Given the description of an element on the screen output the (x, y) to click on. 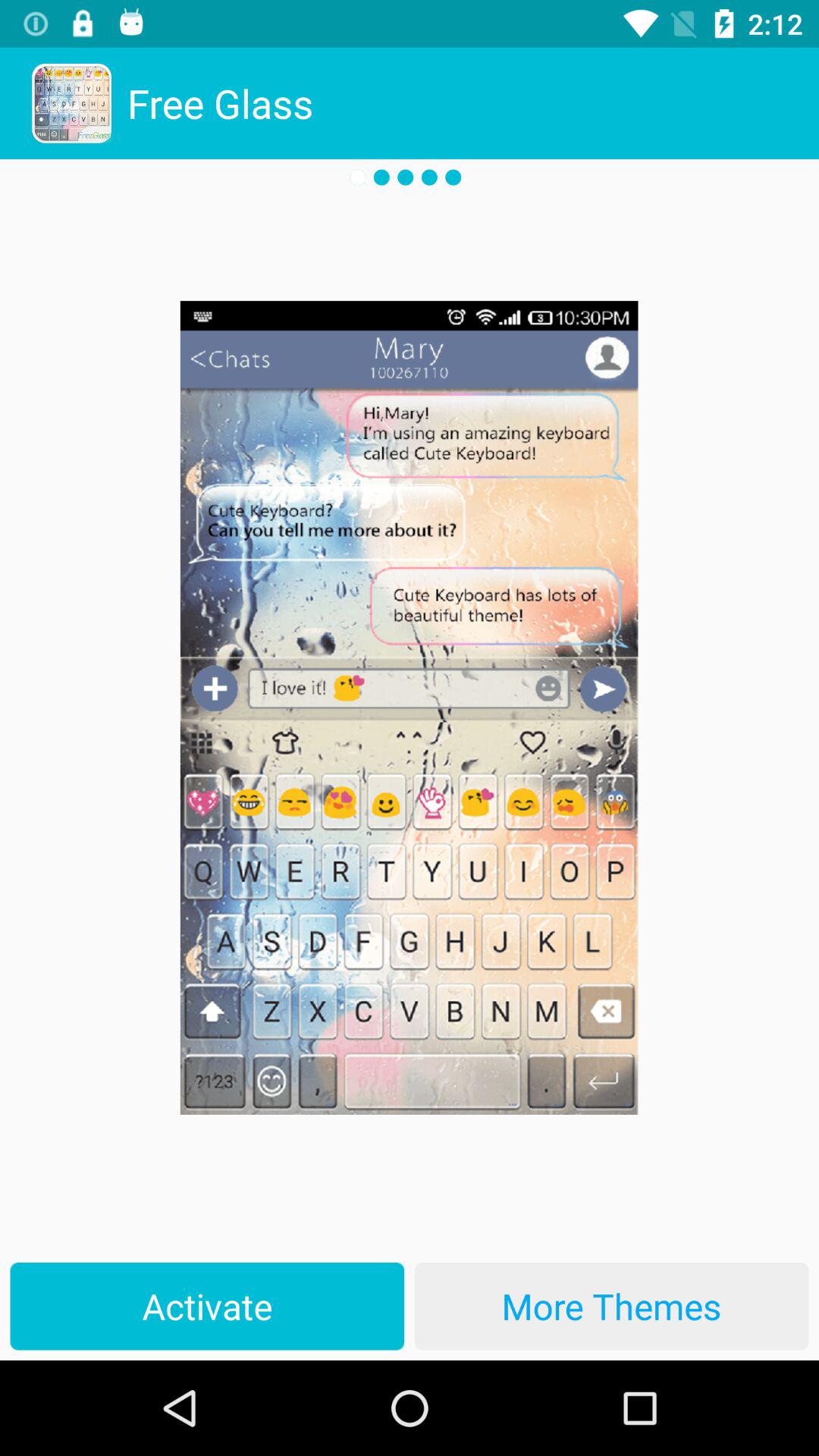
press more themes icon (611, 1306)
